Given the description of an element on the screen output the (x, y) to click on. 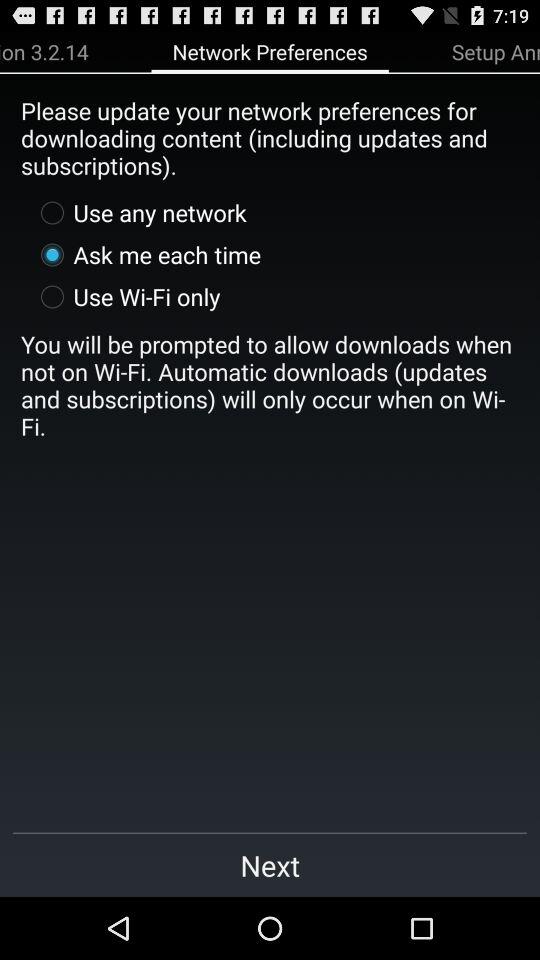
flip to the new in version app (44, 51)
